Given the description of an element on the screen output the (x, y) to click on. 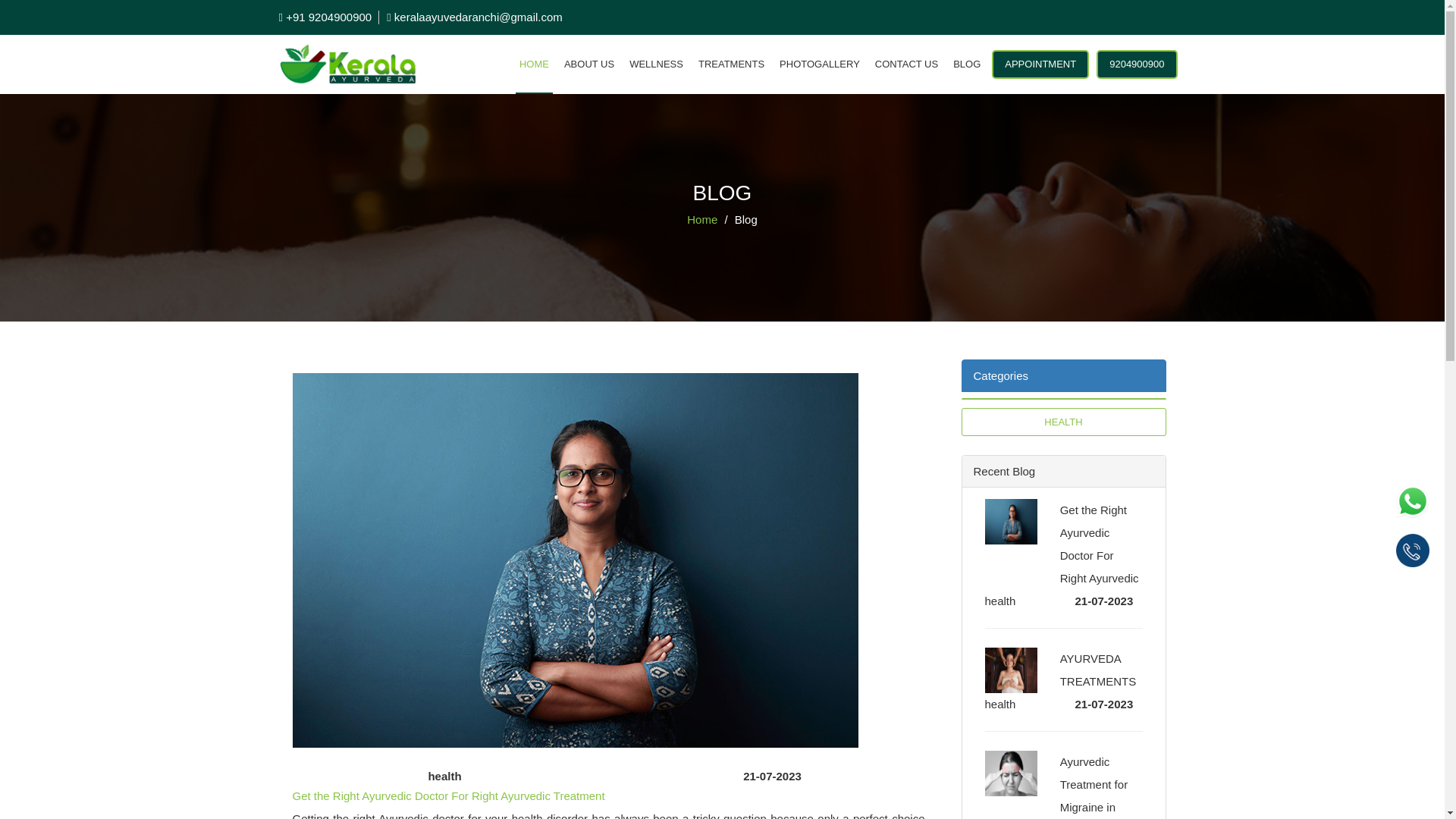
PHOTOGALLERY (819, 64)
9204900900 (1136, 63)
WELLNESS (656, 64)
Get the Right Ayurvedic Doctor For Right Ayurvedic Treatment (448, 795)
CONTACT US (906, 64)
APPOINTMENT (1040, 63)
Categories (1063, 375)
Home (702, 219)
HEALTH (1063, 421)
TREATMENTS (731, 64)
ABOUT US (588, 64)
